Given the description of an element on the screen output the (x, y) to click on. 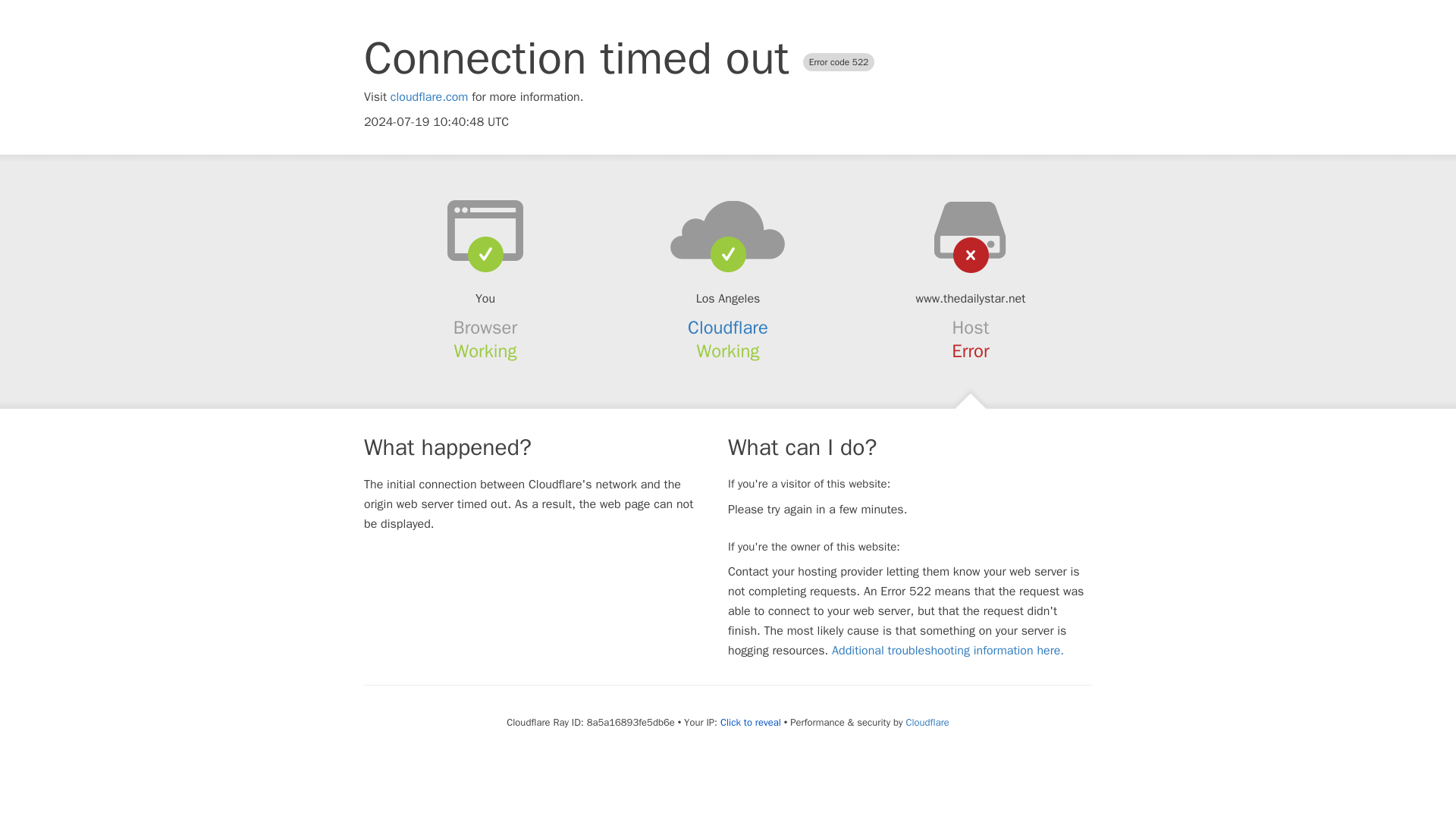
Additional troubleshooting information here. (947, 650)
Click to reveal (750, 722)
Cloudflare (927, 721)
Cloudflare (727, 327)
cloudflare.com (429, 96)
